Given the description of an element on the screen output the (x, y) to click on. 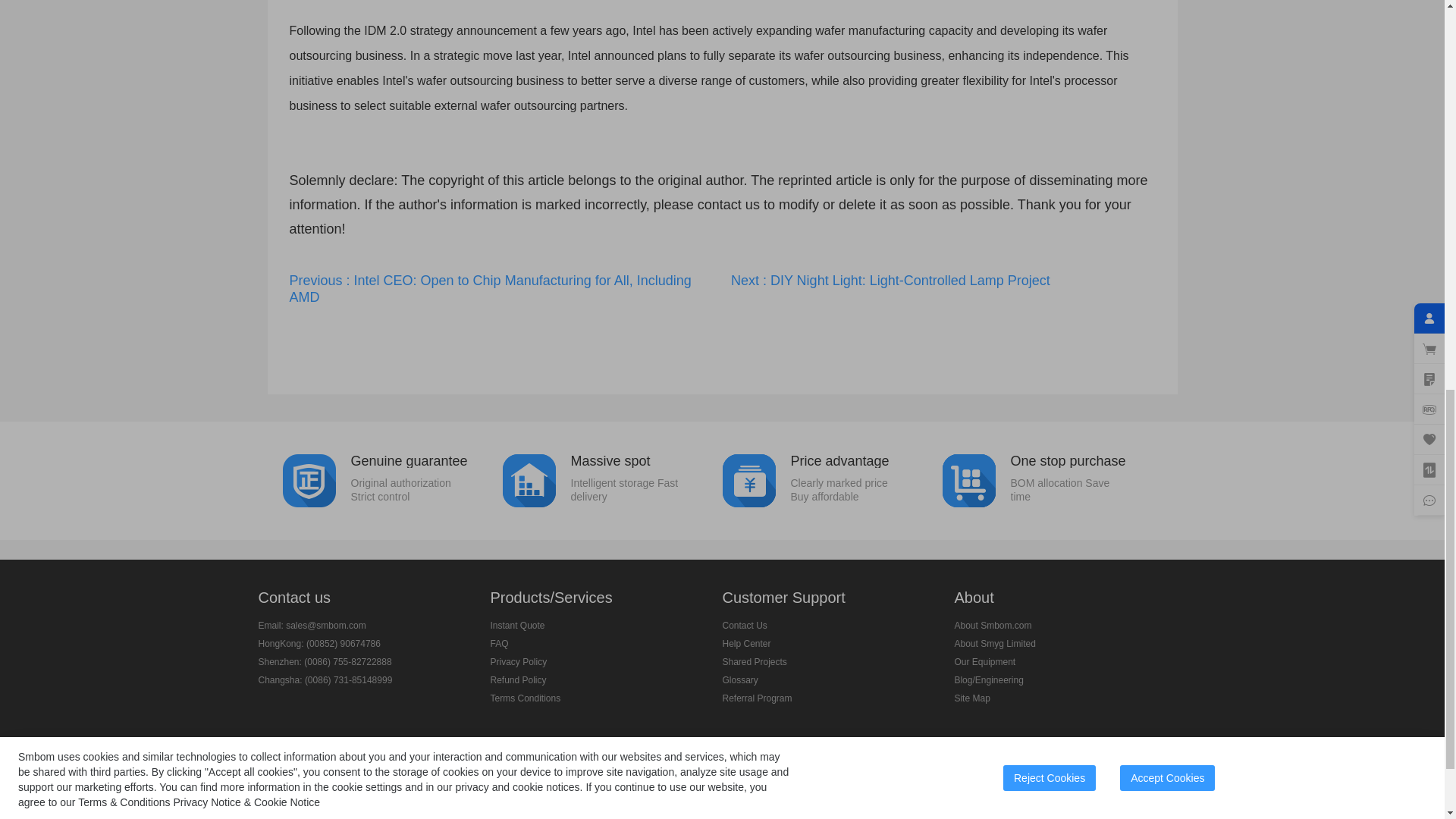
Help Center (746, 643)
Terms Conditions (524, 697)
About Smbom.com (991, 624)
Referral Program (757, 697)
Instant Quote (516, 624)
Shared Projects (754, 661)
Next : DIY Night Light: Light-Controlled Lamp Project (943, 280)
About Smyg Limited (612, 478)
